Given the description of an element on the screen output the (x, y) to click on. 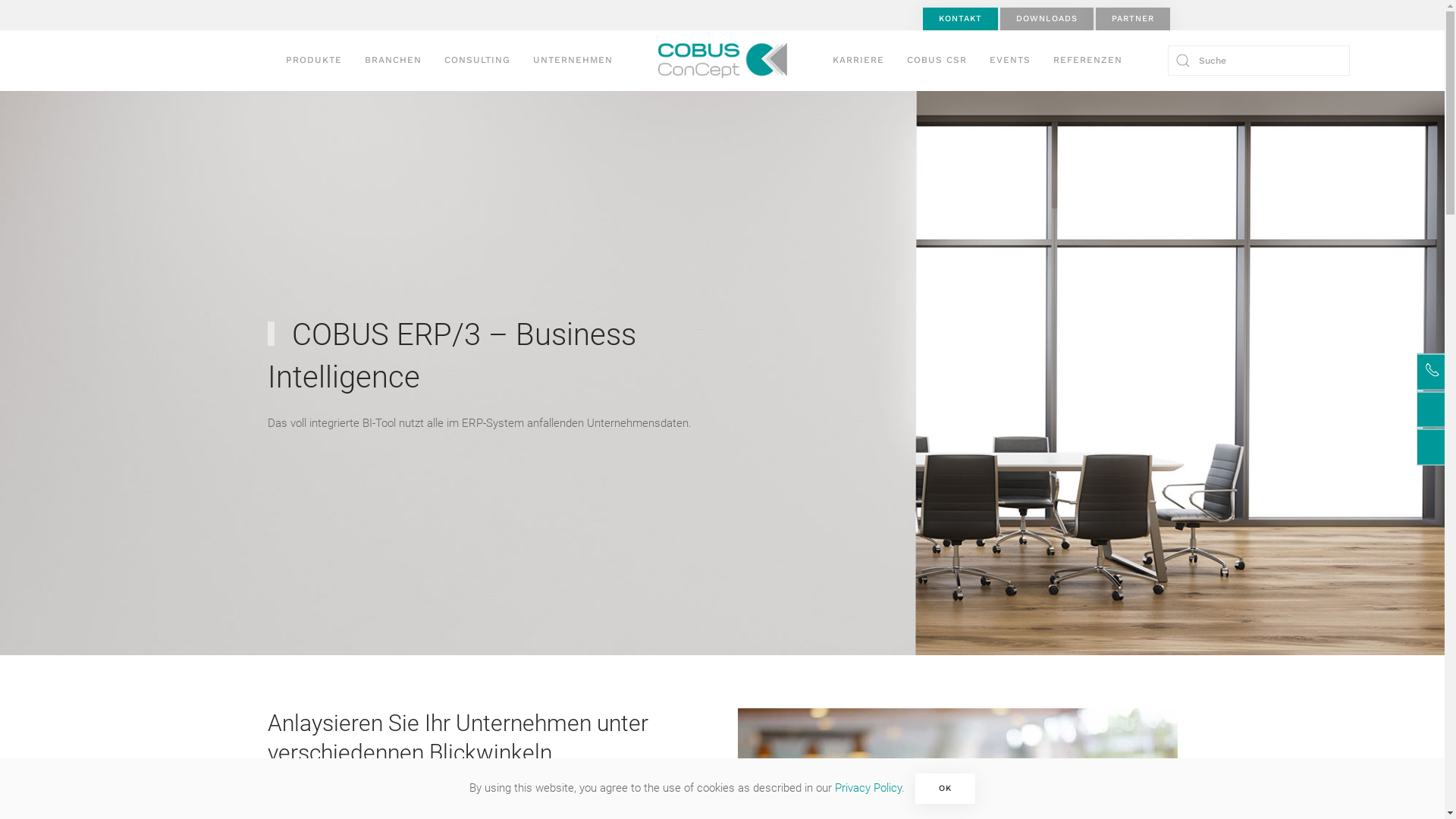
BRANCHEN Element type: text (393, 60)
EVENTS Element type: text (1009, 60)
PARTNER Element type: text (1132, 18)
CONSULTING Element type: text (476, 60)
REFERENZEN Element type: text (1087, 60)
KARRIERE Element type: text (857, 60)
UNTERNEHMEN Element type: text (572, 60)
KONTAKT Element type: text (959, 18)
PRODUKTE Element type: text (313, 60)
OK Element type: text (945, 788)
COBUS CSR Element type: text (935, 60)
DOWNLOADS Element type: text (1045, 18)
Privacy Policy Element type: text (867, 787)
